Given the description of an element on the screen output the (x, y) to click on. 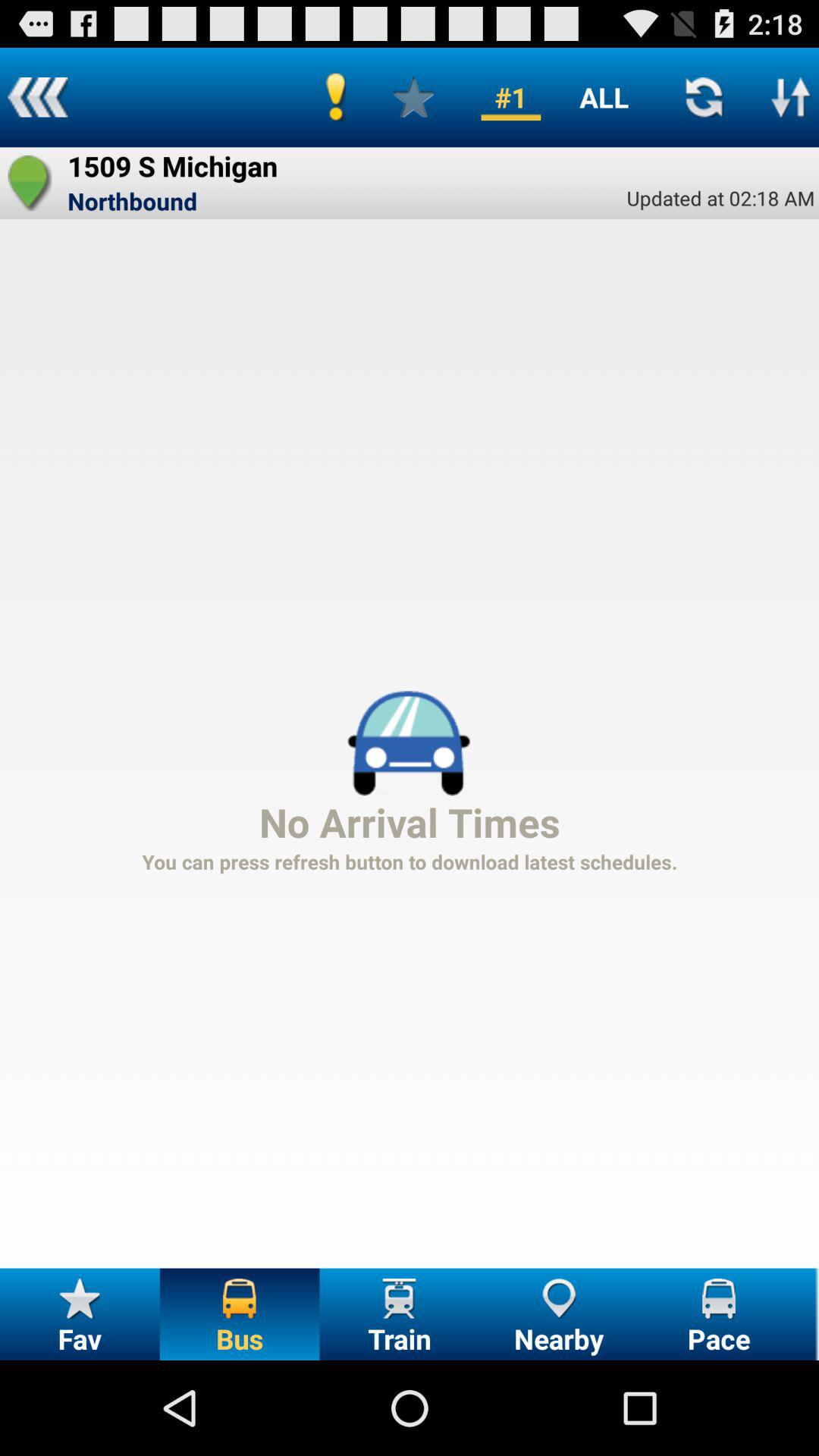
refresh page (703, 97)
